Given the description of an element on the screen output the (x, y) to click on. 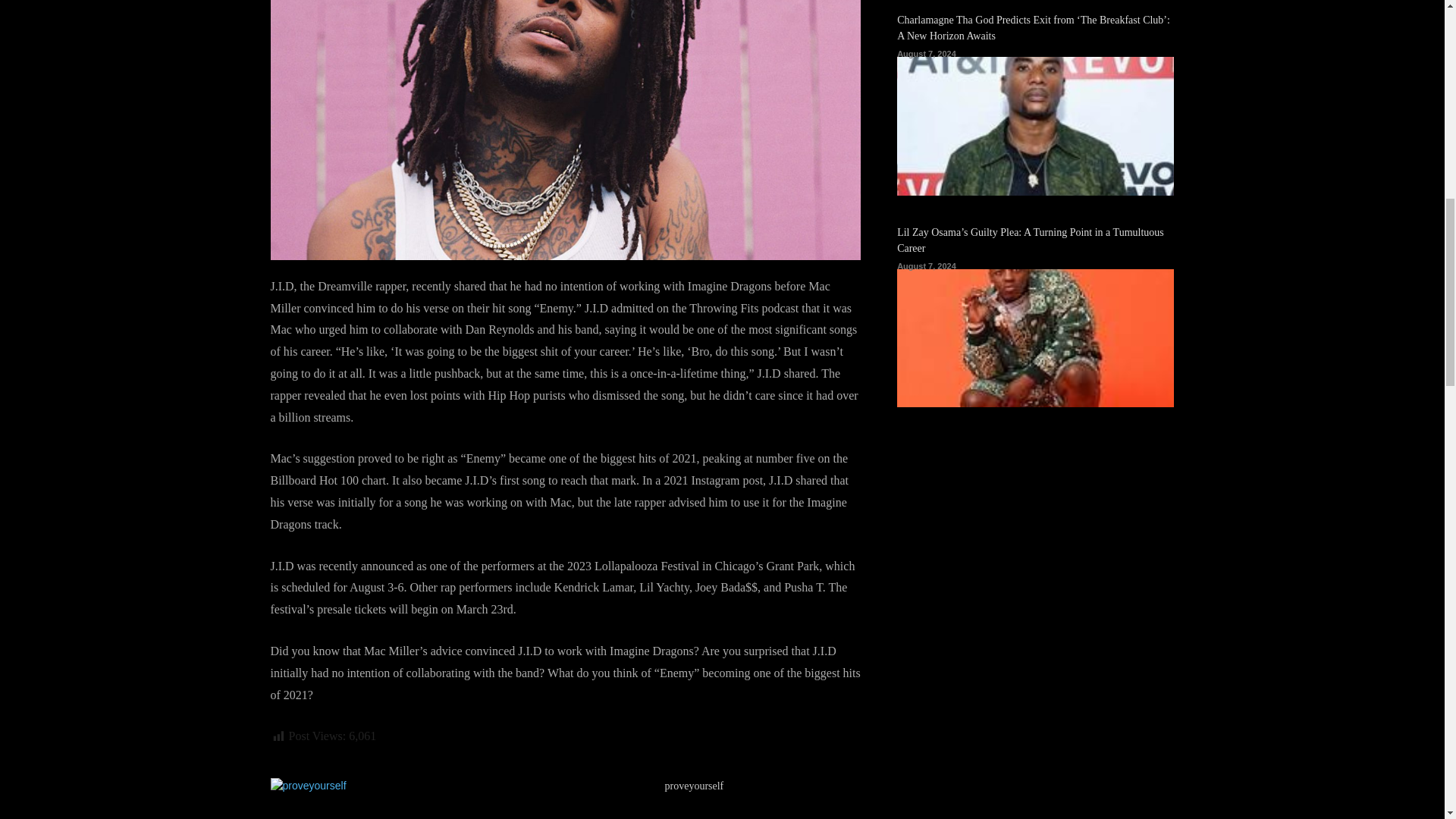
proveyourself (459, 798)
